Given the description of an element on the screen output the (x, y) to click on. 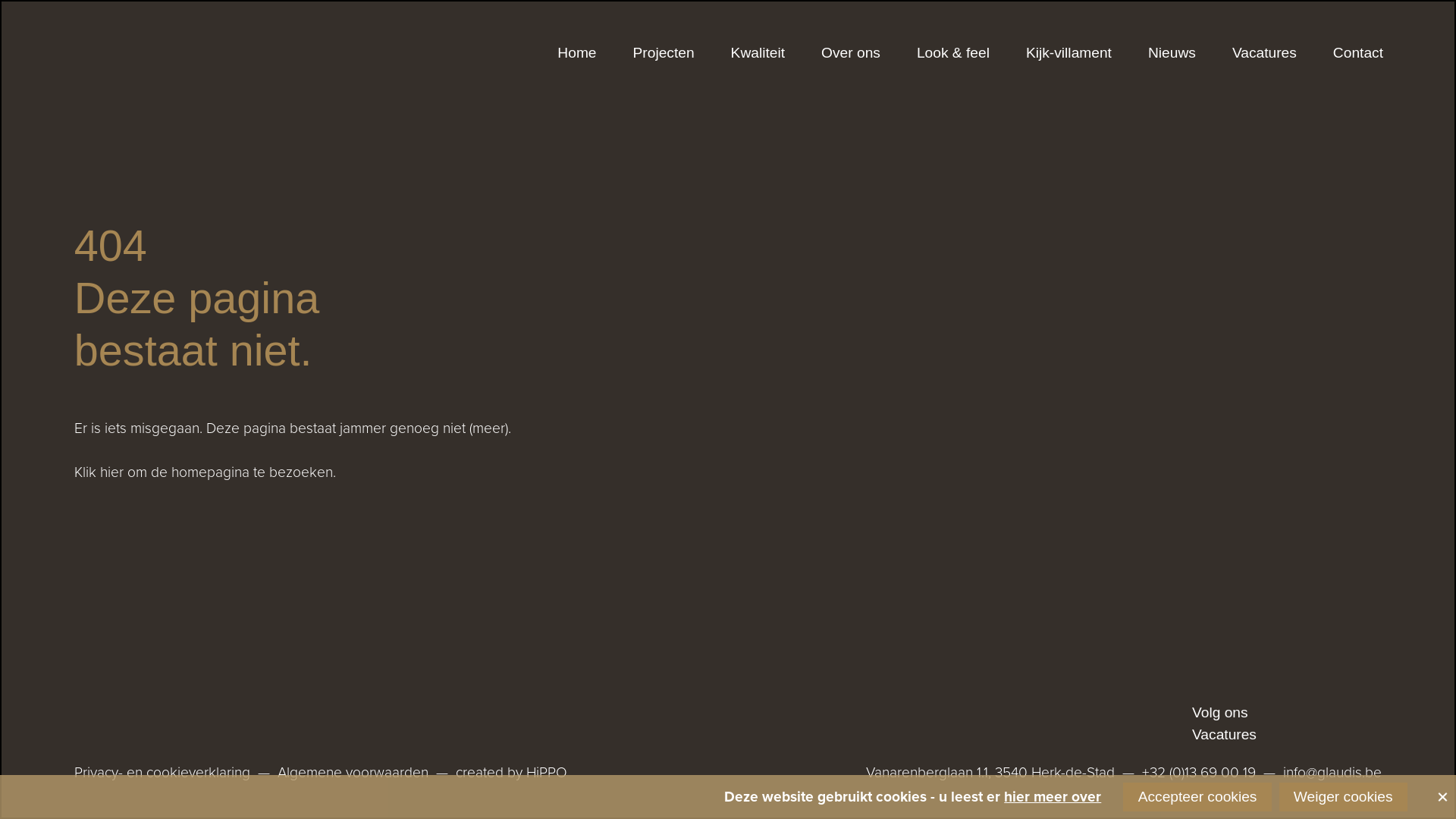
created by HiPPO Element type: text (511, 772)
info@glaudis.be Element type: text (1332, 772)
Kwaliteit Element type: text (757, 52)
Klik hier om de homepagina te bezoeken Element type: text (203, 472)
Home Element type: text (576, 52)
Projecten Element type: text (663, 52)
+32 (0)13 69 00 19 Element type: text (1198, 772)
Look & feel Element type: text (952, 52)
Kijk-villament Element type: text (1068, 52)
Over ons Element type: text (850, 52)
Algemene voorwaarden Element type: text (352, 772)
Contact Element type: text (1358, 52)
Vanarenberglaan 1.1, 3540 Herk-de-Stad Element type: text (990, 772)
Accepteer cookies Element type: text (1196, 796)
Vacatures Element type: text (1224, 735)
Nieuws Element type: text (1171, 52)
Vacatures Element type: text (1264, 52)
hier meer over Element type: text (1052, 796)
Privacy- en cookieverklaring Element type: text (162, 772)
Weiger cookies Element type: text (1343, 796)
